Given the description of an element on the screen output the (x, y) to click on. 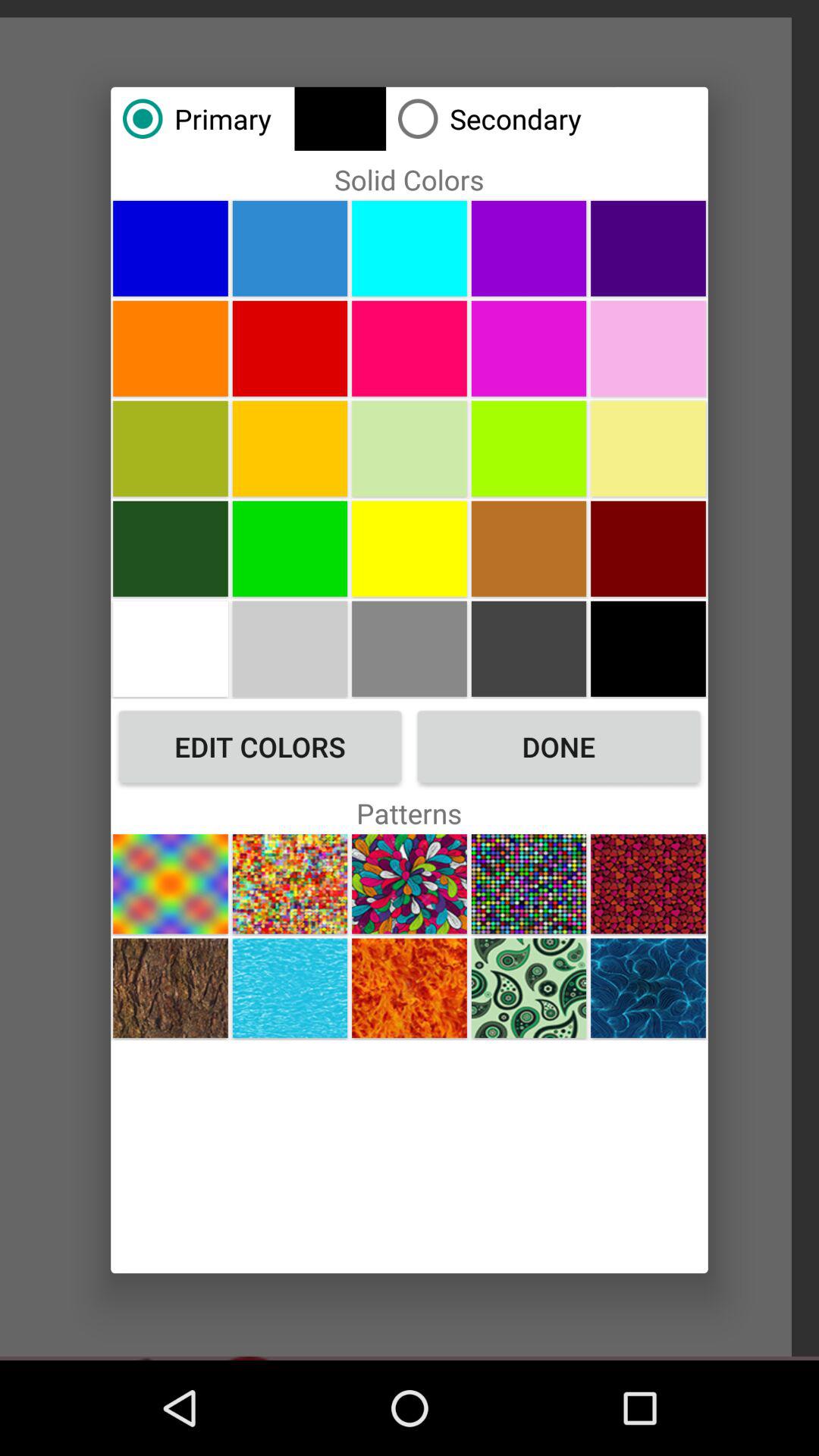
choose mint green color (409, 448)
